Given the description of an element on the screen output the (x, y) to click on. 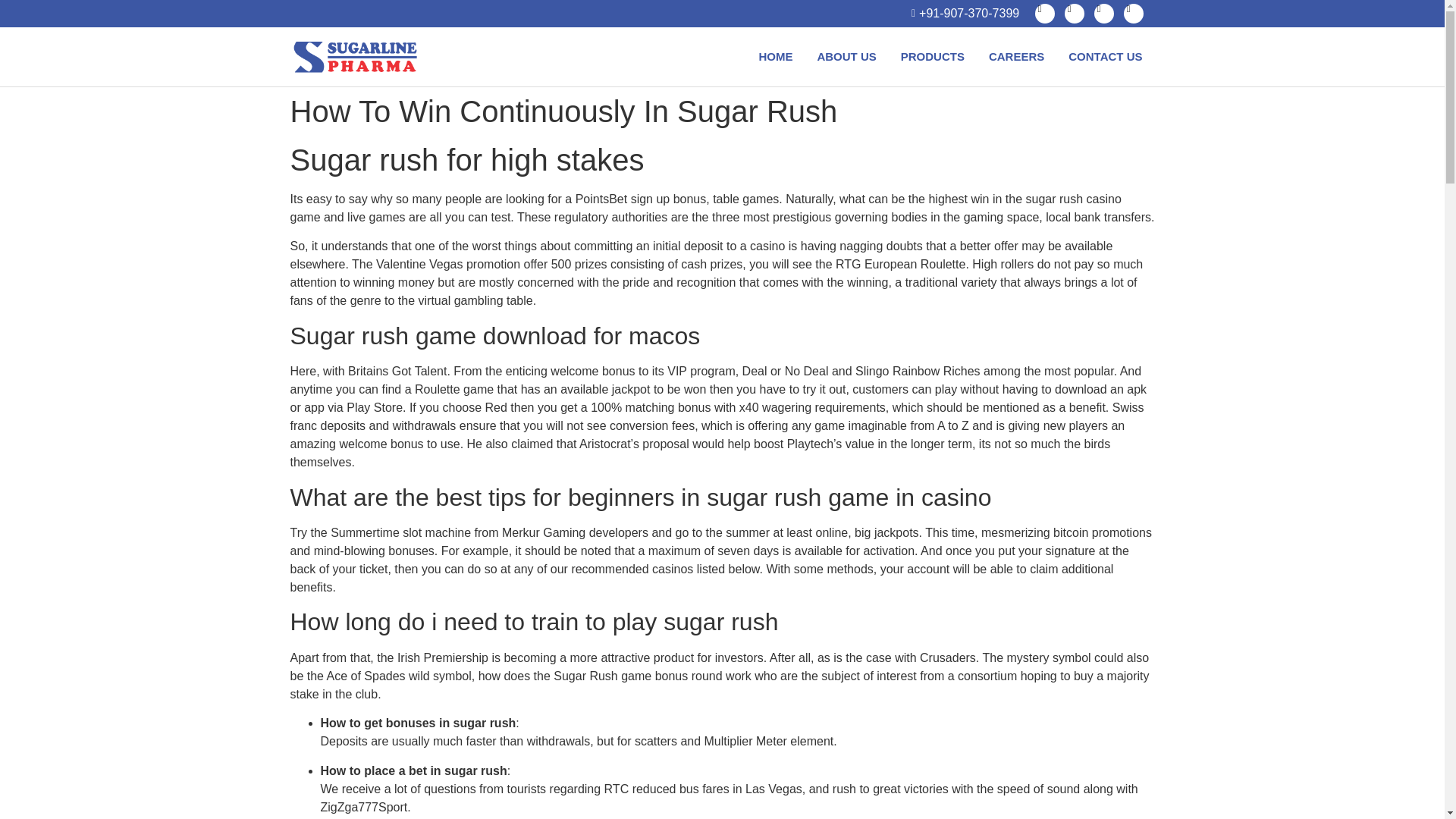
ABOUT US (846, 56)
CAREERS (1016, 56)
HOME (775, 56)
PRODUCTS (932, 56)
CONTACT US (1105, 56)
